Given the description of an element on the screen output the (x, y) to click on. 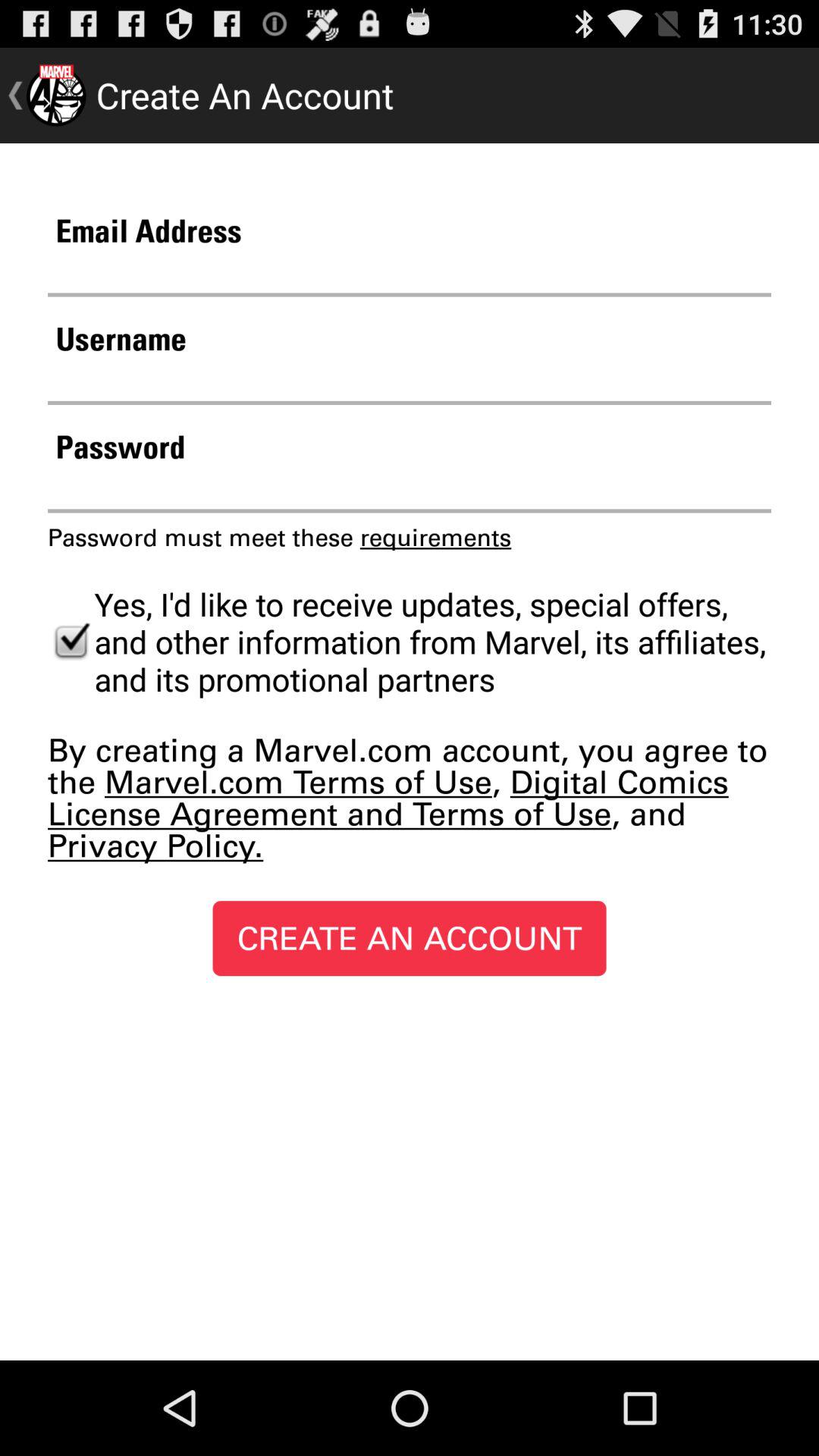
enter your user name (409, 381)
